Given the description of an element on the screen output the (x, y) to click on. 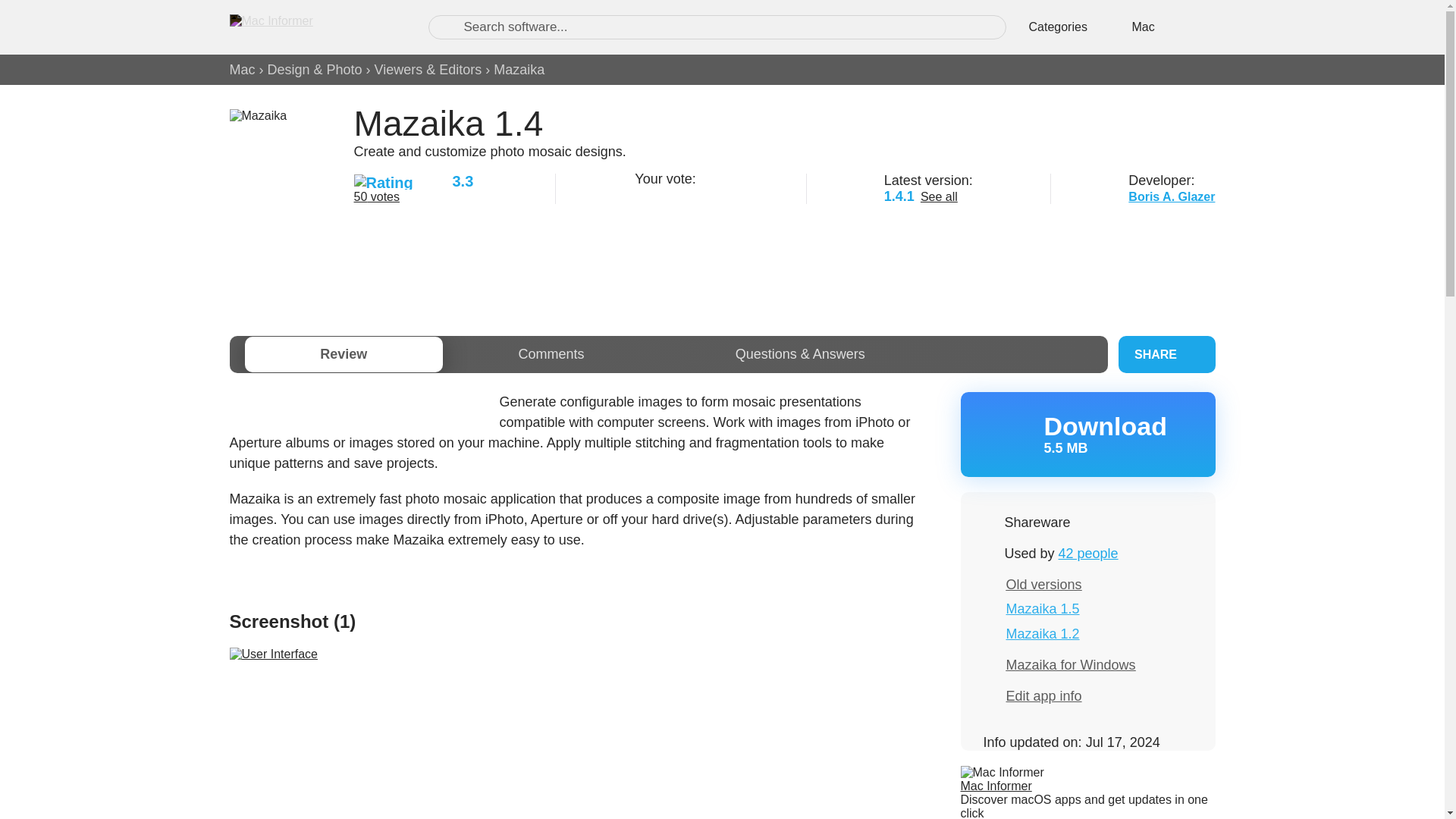
1 (642, 193)
2 (1086, 434)
Mazaika (661, 193)
Comments (518, 69)
Mac (550, 354)
Software downloads and reviews (241, 69)
Comments (312, 26)
5 (550, 354)
Old versions (718, 193)
Mac Informer (1043, 584)
Mazaika 1.5 (994, 785)
